Given the description of an element on the screen output the (x, y) to click on. 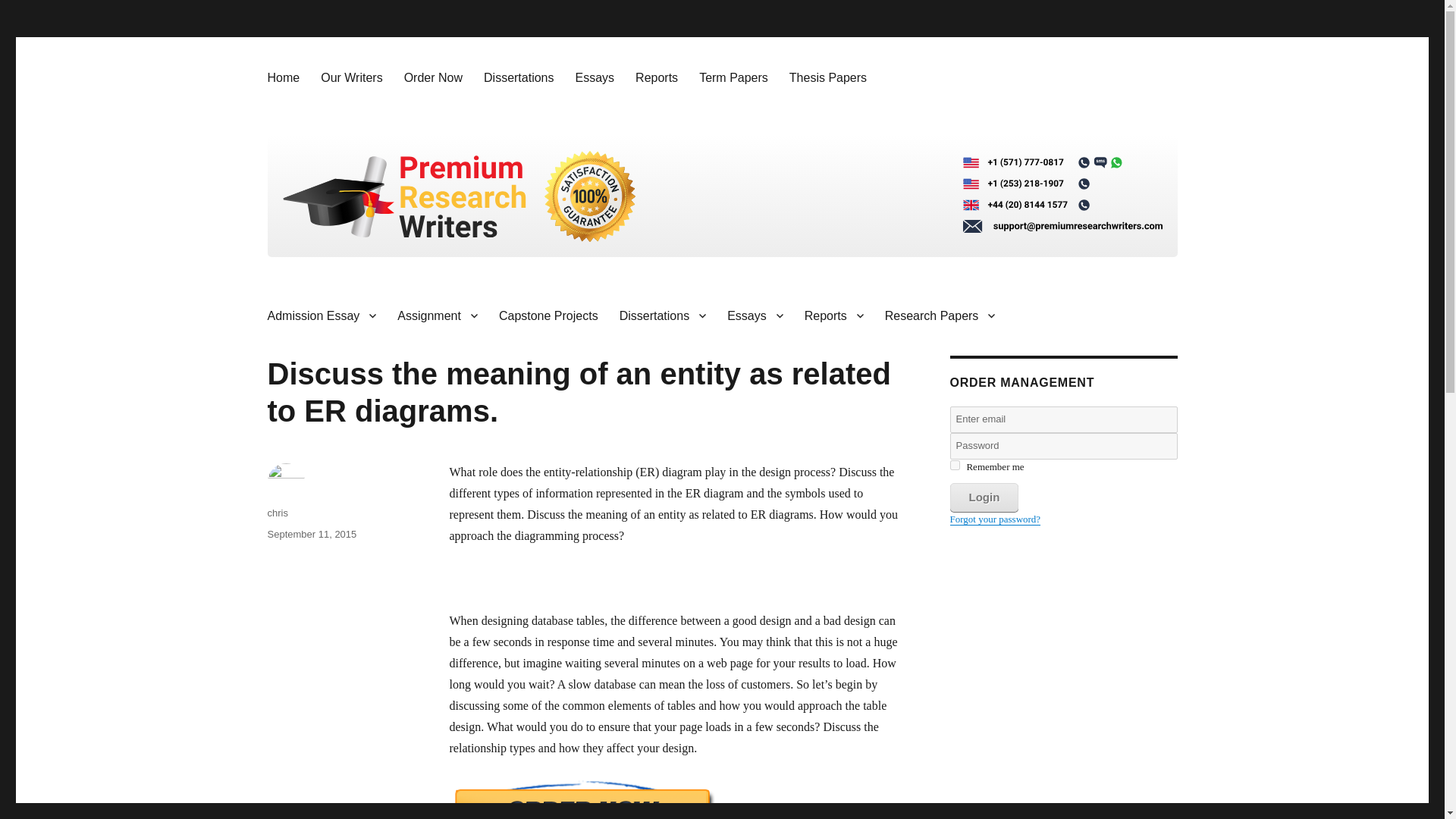
Our Writers (351, 77)
Assignment (437, 315)
Admission Essay (321, 315)
Dissertations (662, 315)
Term Papers (733, 77)
Essays (595, 77)
Dissertations (518, 77)
Home (283, 77)
Reports (656, 77)
Recover password (995, 518)
click to Login (983, 497)
Thesis Papers (827, 77)
chris (276, 512)
on (954, 465)
Reports (834, 315)
